Given the description of an element on the screen output the (x, y) to click on. 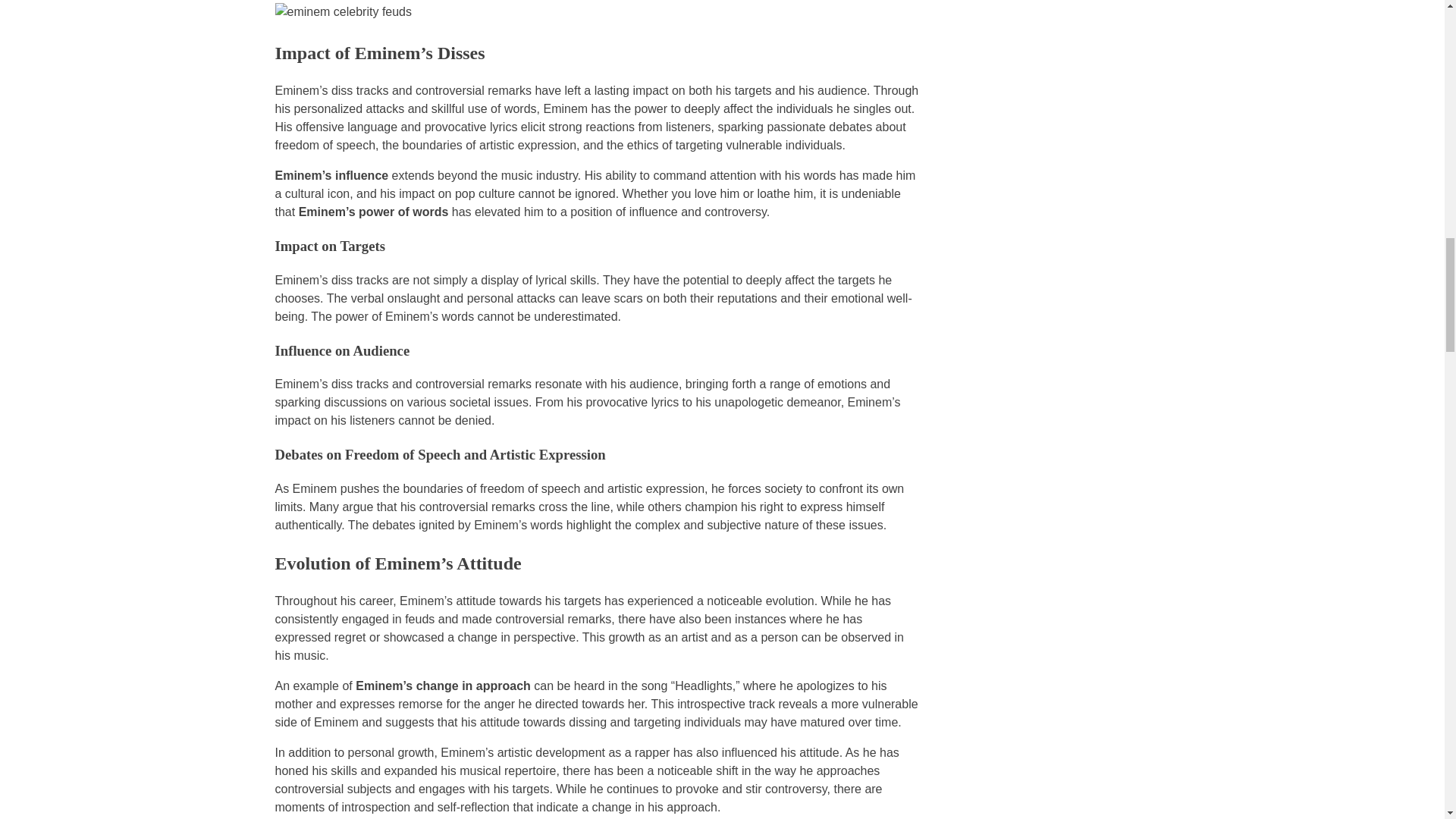
eminem celebrity feuds (596, 12)
